Given the description of an element on the screen output the (x, y) to click on. 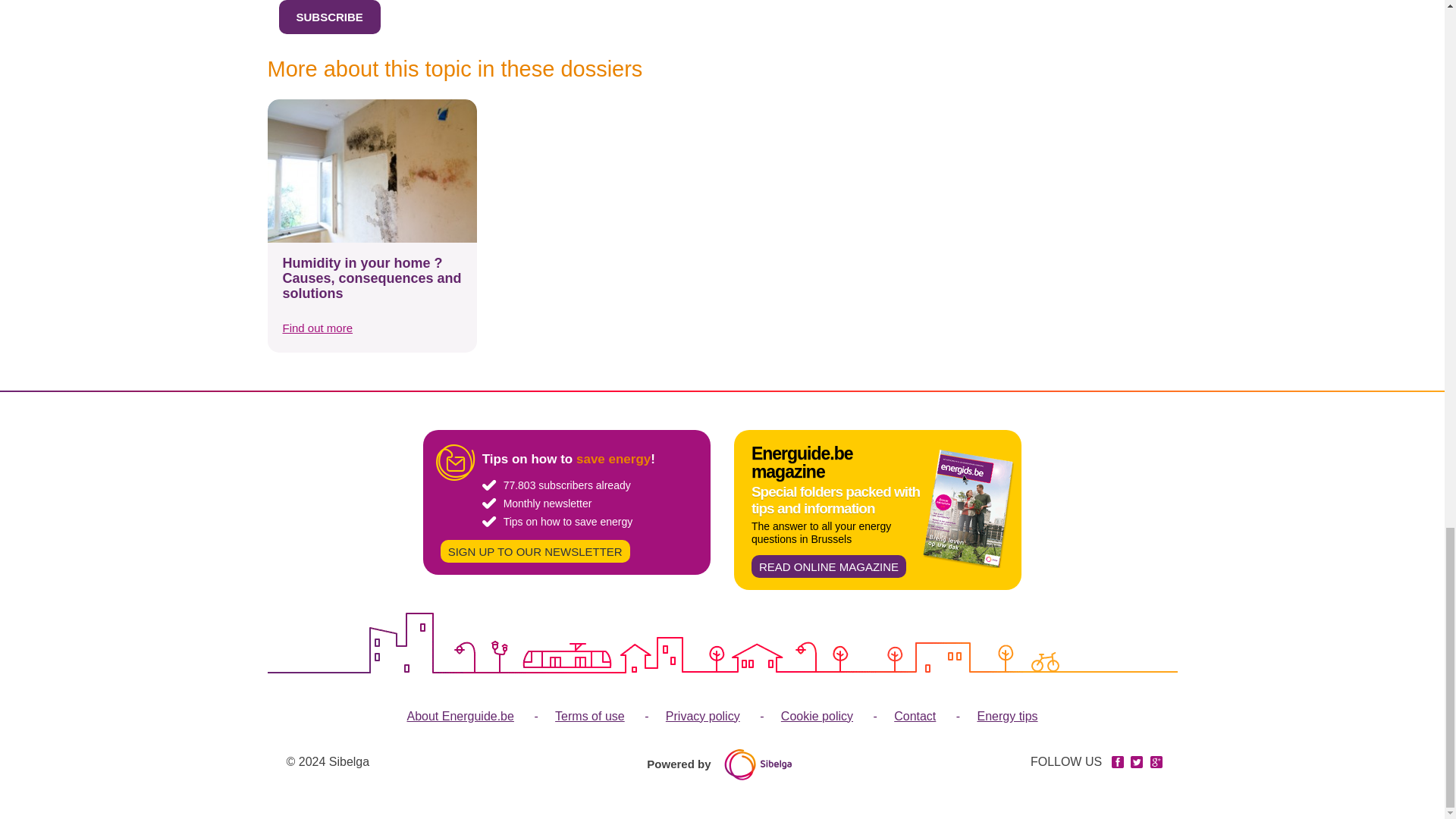
Energy tips (987, 716)
SUBSCRIBE (329, 17)
Find out more (317, 327)
About Energuide.be (459, 716)
Cookie policy (797, 716)
Humidity in your home ? Causes, consequences and solutions (371, 278)
Terms of use (570, 716)
READ ONLINE MAGAZINE (828, 565)
SIGN UP TO OUR NEWSLETTER (535, 549)
Privacy policy (683, 716)
